Given the description of an element on the screen output the (x, y) to click on. 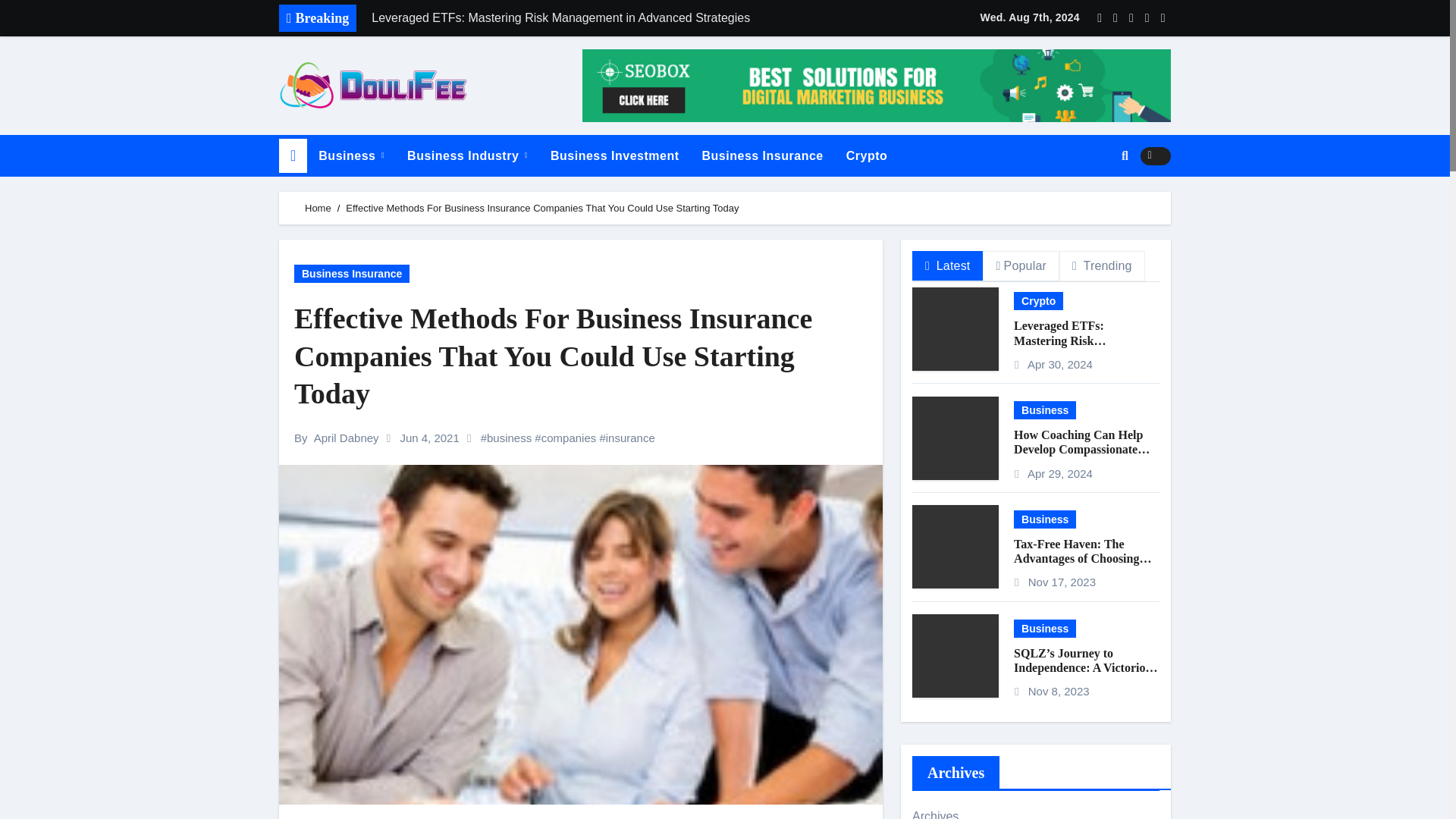
Business Insurance (762, 155)
Business Industry (467, 155)
Crypto (866, 155)
Business Investment (614, 155)
Business Industry (467, 155)
Crypto (866, 155)
Jun 4, 2021 (430, 437)
Business (351, 155)
Home (317, 207)
